Given the description of an element on the screen output the (x, y) to click on. 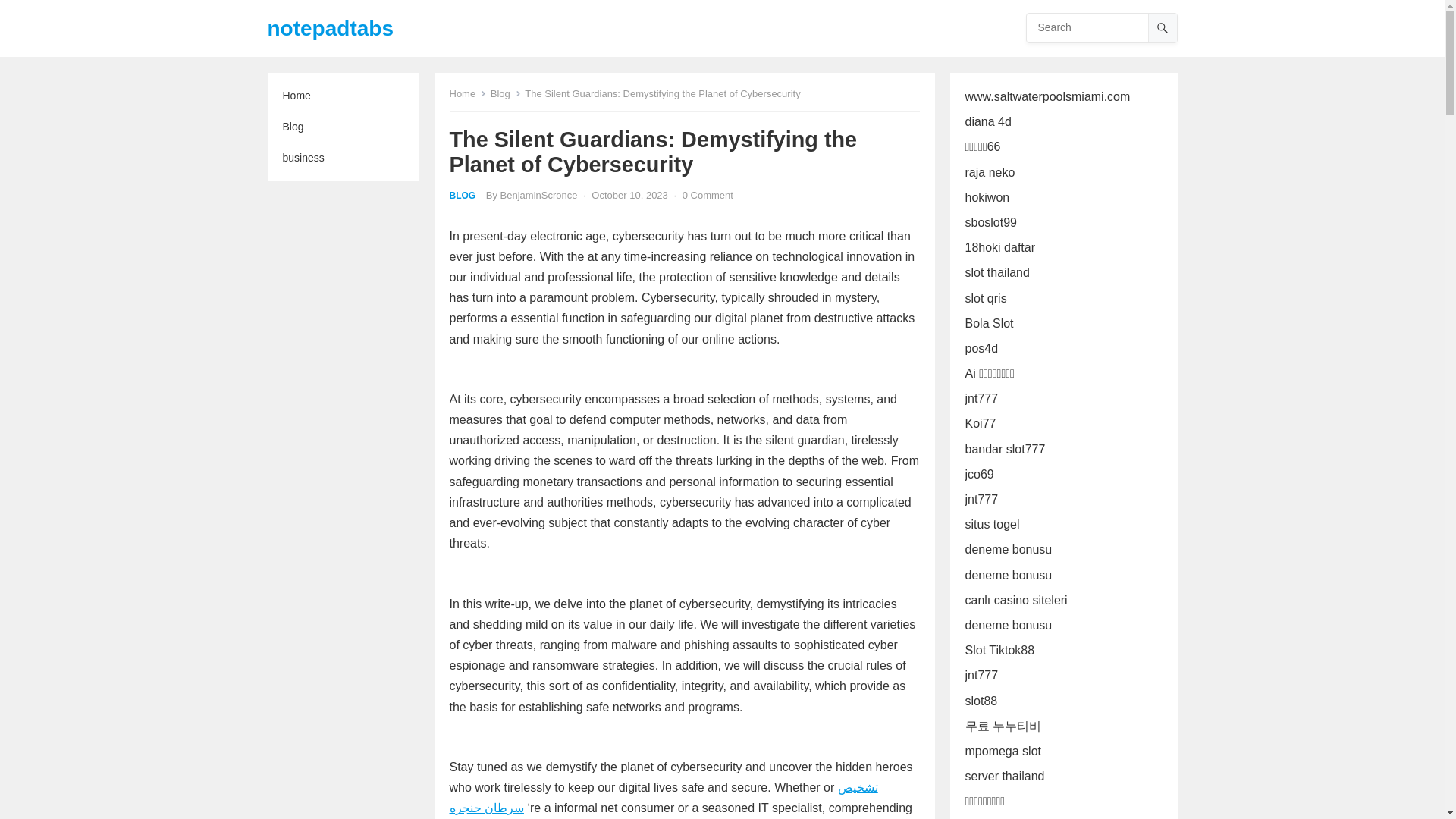
BLOG (462, 195)
BenjaminScronce (539, 194)
Home (342, 95)
Home (467, 93)
Posts by BenjaminScronce (539, 194)
0 Comment (707, 194)
notepadtabs (329, 28)
Blog (505, 93)
Blog (342, 126)
business (342, 157)
